Given the description of an element on the screen output the (x, y) to click on. 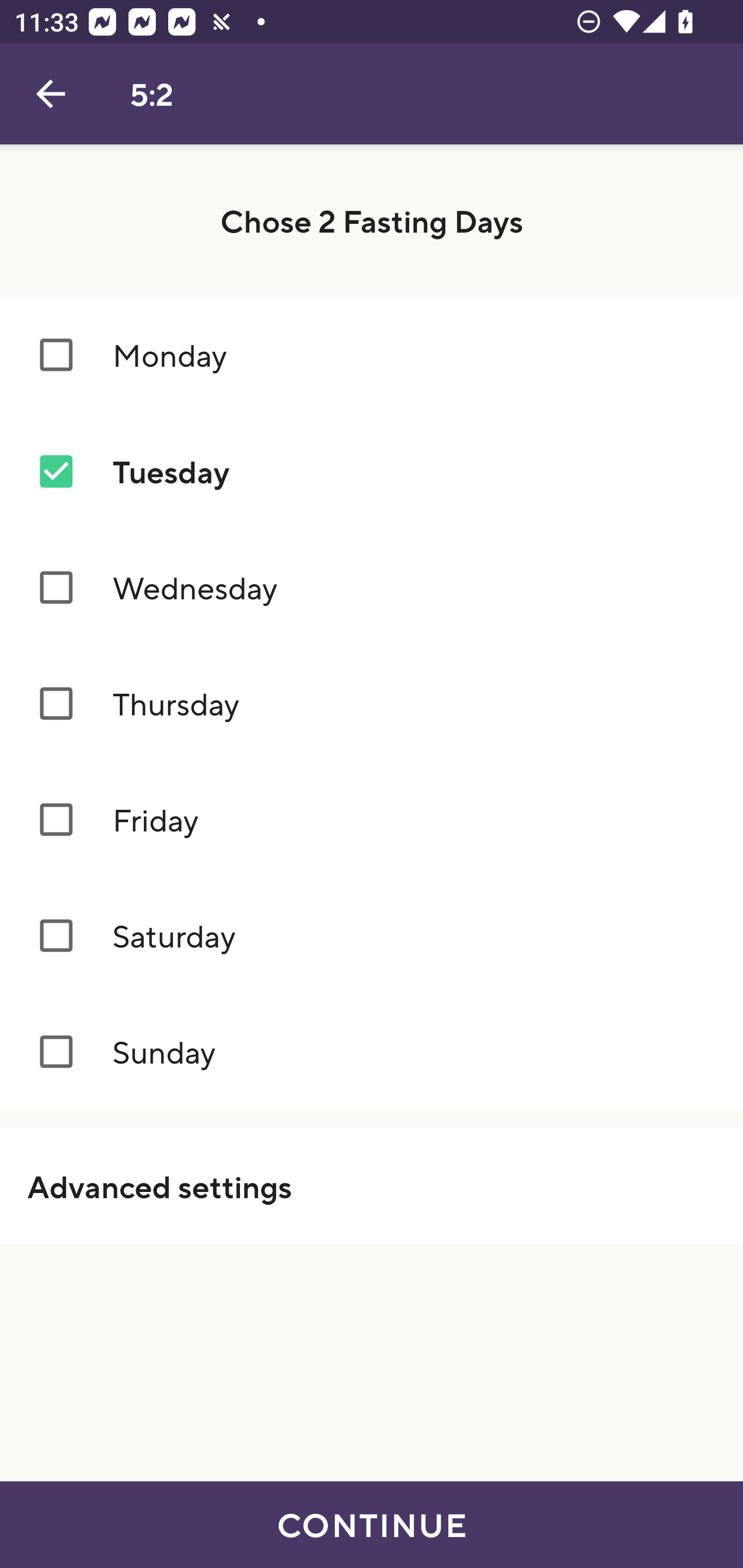
Navigate up (50, 93)
Monday (371, 354)
Tuesday (371, 470)
Wednesday (371, 587)
Thursday (371, 704)
Friday (371, 820)
Saturday (371, 936)
Sunday (371, 1052)
Advanced settings (371, 1185)
CONTINUE (371, 1524)
